Given the description of an element on the screen output the (x, y) to click on. 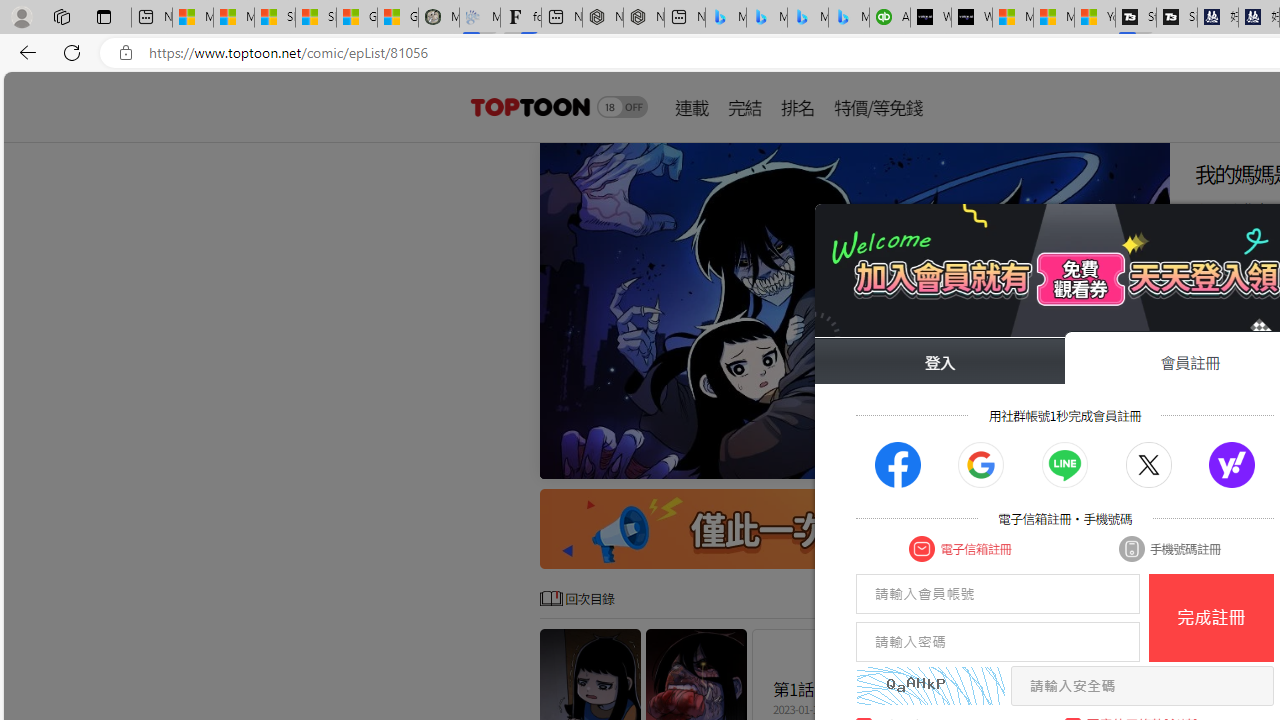
Microsoft Bing Travel - Stays in Bangkok, Bangkok, Thailand (767, 17)
Class: socialBtn actionSocialJoinBtn (1232, 465)
Class: swiper-slide swiper-slide-prev (854, 310)
Go to slide 8 (1114, 461)
Go to slide 5 (1066, 461)
Go to slide 10 (1146, 461)
Class: swiper-slide (854, 310)
Class: swiper-slide swiper-slide-duplicate-next (854, 310)
